Given the description of an element on the screen output the (x, y) to click on. 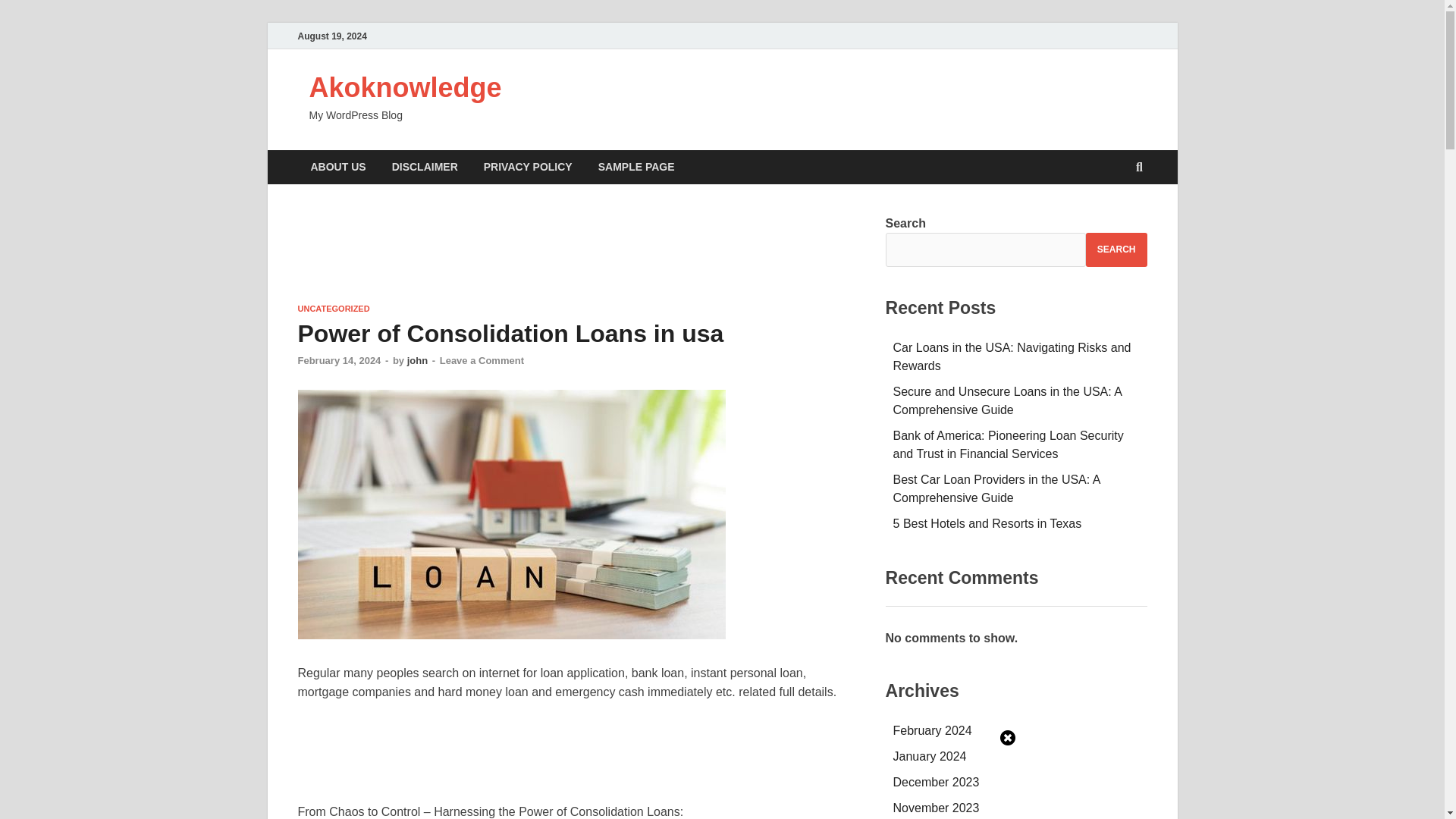
SAMPLE PAGE (636, 166)
Akoknowledge (405, 87)
Leave a Comment (481, 360)
Best Car Loan Providers in the USA: A Comprehensive Guide (996, 488)
DISCLAIMER (424, 166)
February 14, 2024 (338, 360)
Secure and Unsecure Loans in the USA: A Comprehensive Guide (1007, 400)
November 2023 (936, 807)
5 Best Hotels and Resorts in Texas (987, 522)
